Given the description of an element on the screen output the (x, y) to click on. 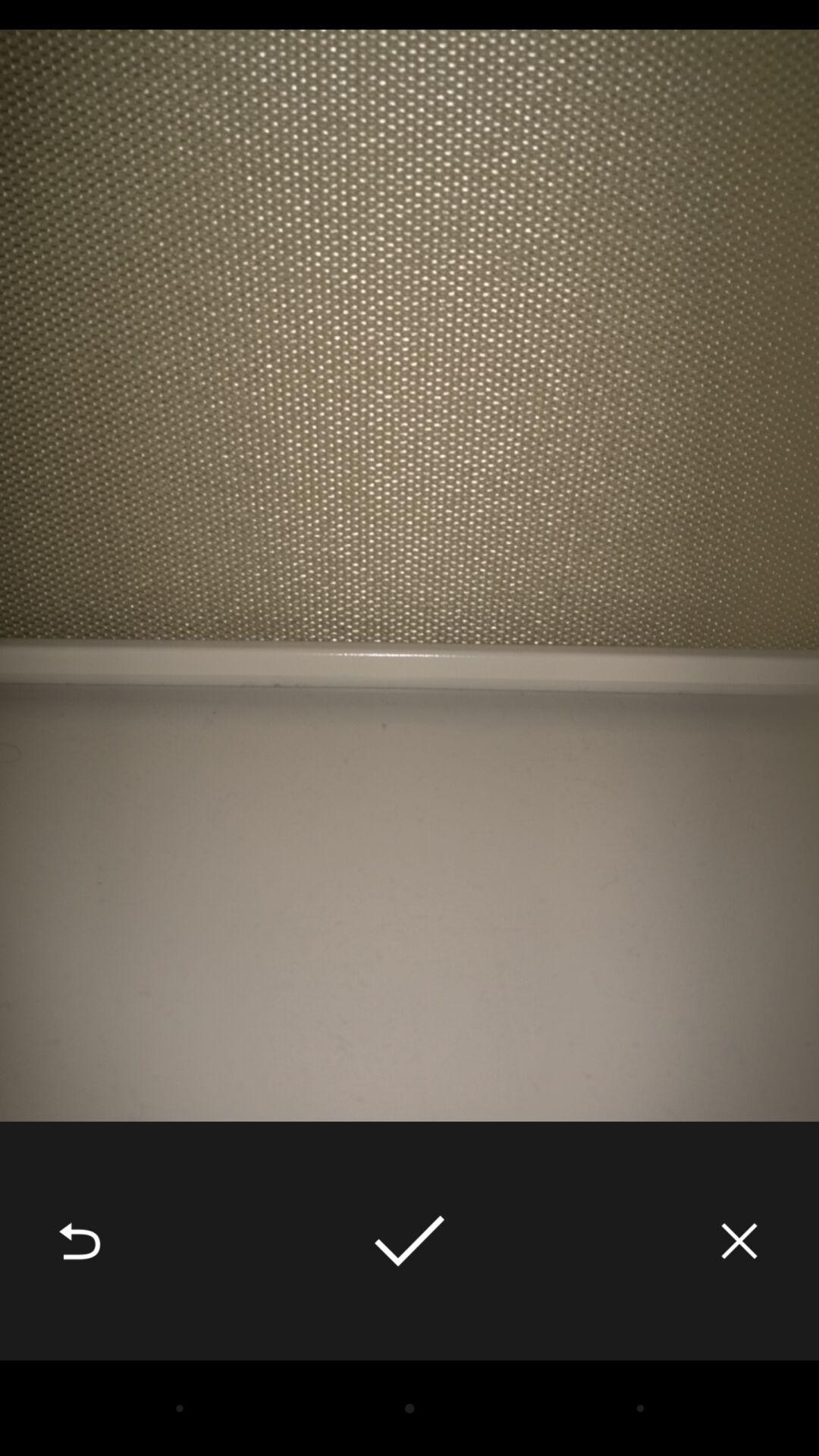
select item at the bottom right corner (739, 1240)
